Given the description of an element on the screen output the (x, y) to click on. 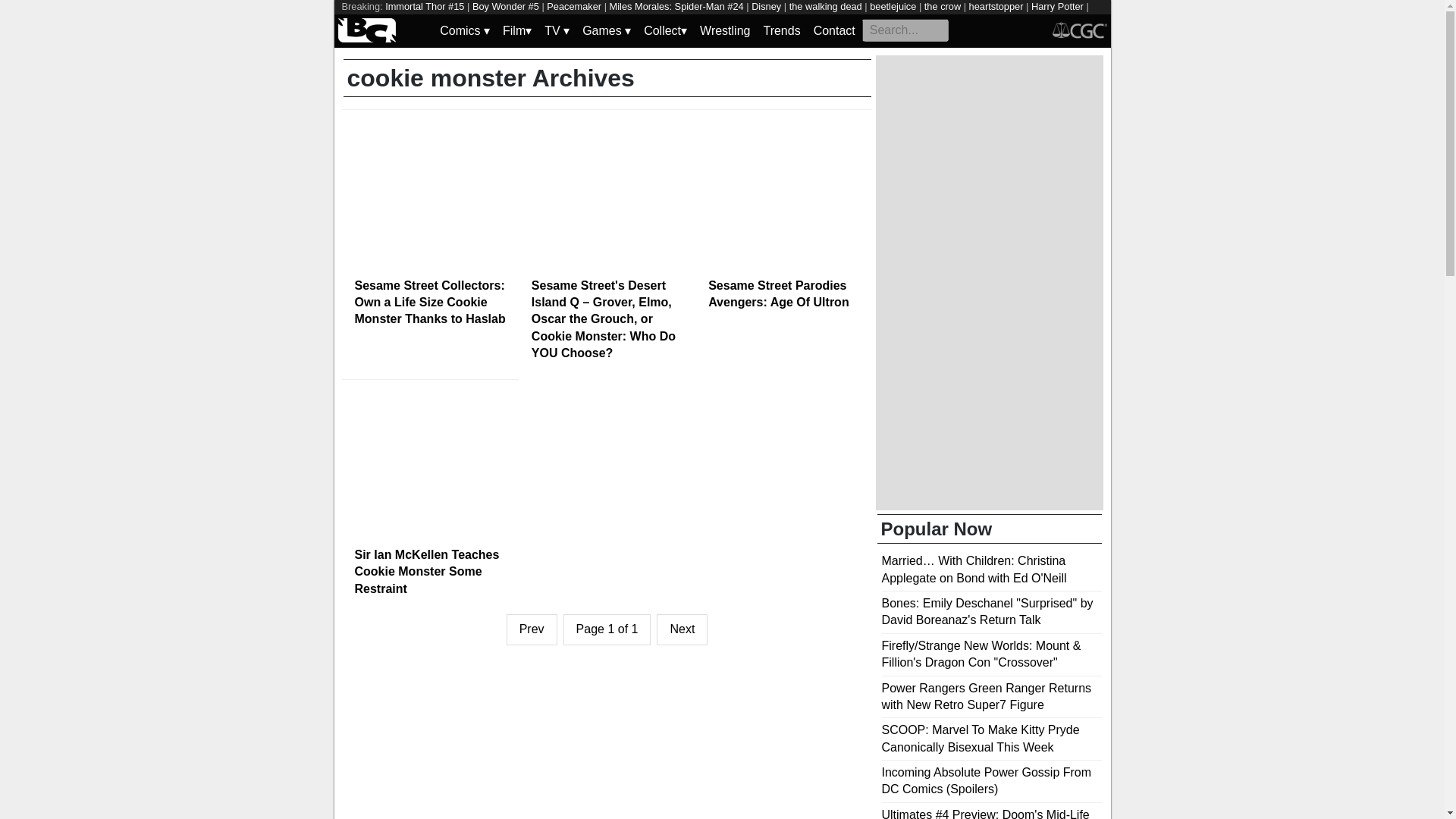
heartstopper (996, 6)
Toggle Dropdown (665, 30)
Absolute Power (668, 19)
Beetlejuice Beetlejuice (389, 19)
the walking dead (825, 6)
Disney (765, 6)
the crow (942, 6)
Toggle Dropdown (516, 30)
Reacher (464, 19)
Peacemaker (574, 6)
